Given the description of an element on the screen output the (x, y) to click on. 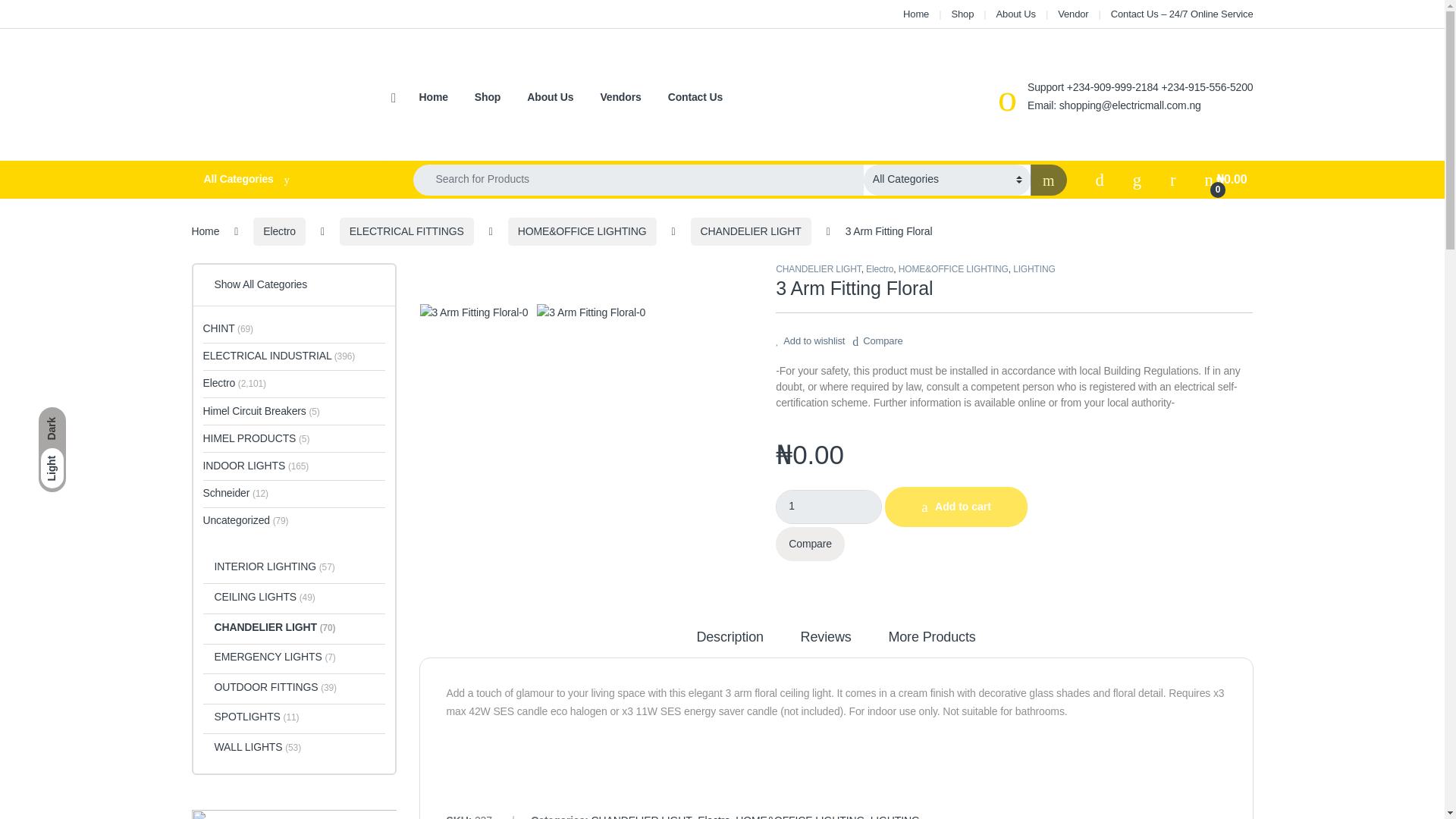
1 (829, 506)
About Us (1015, 13)
About Us (1015, 13)
Home (915, 13)
Vendor (1072, 13)
Vendor (1072, 13)
Home (915, 13)
